Given the description of an element on the screen output the (x, y) to click on. 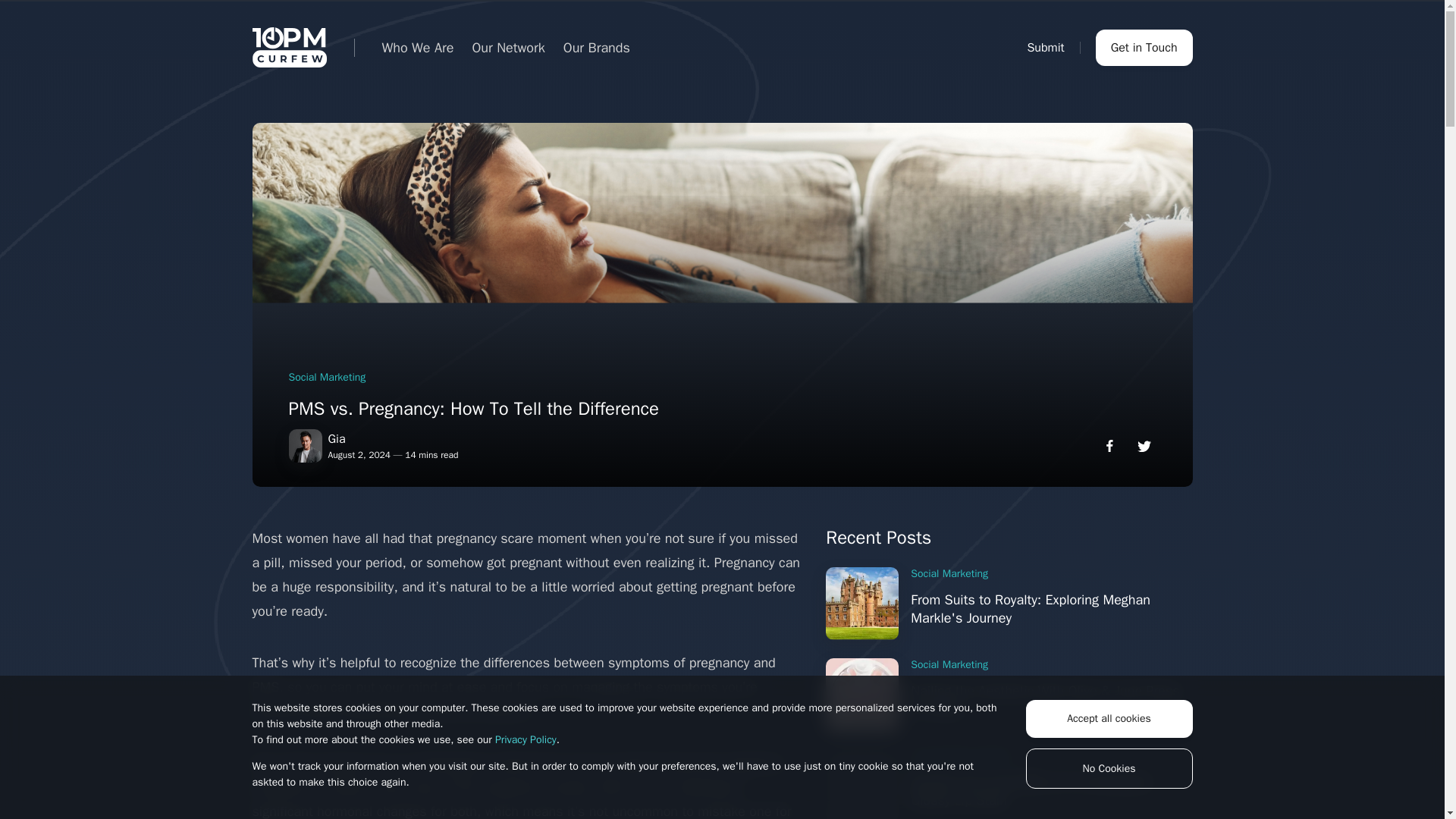
Social Marketing (949, 573)
Our Network (507, 47)
Our Brands (596, 47)
Social Marketing (949, 664)
Elevate Your Lips With e.l.f.'s Innovative Glossy Lip Stain (861, 784)
Elevate Your Lips With e.l.f.'s Innovative Glossy Lip Stain (1030, 790)
Social Marketing (949, 664)
From Suits to Royalty: Exploring Meghan Markle's Journey (861, 603)
Social Marketing (326, 376)
From Suits to Royalty: Exploring Meghan Markle's Journey (1030, 608)
